Given the description of an element on the screen output the (x, y) to click on. 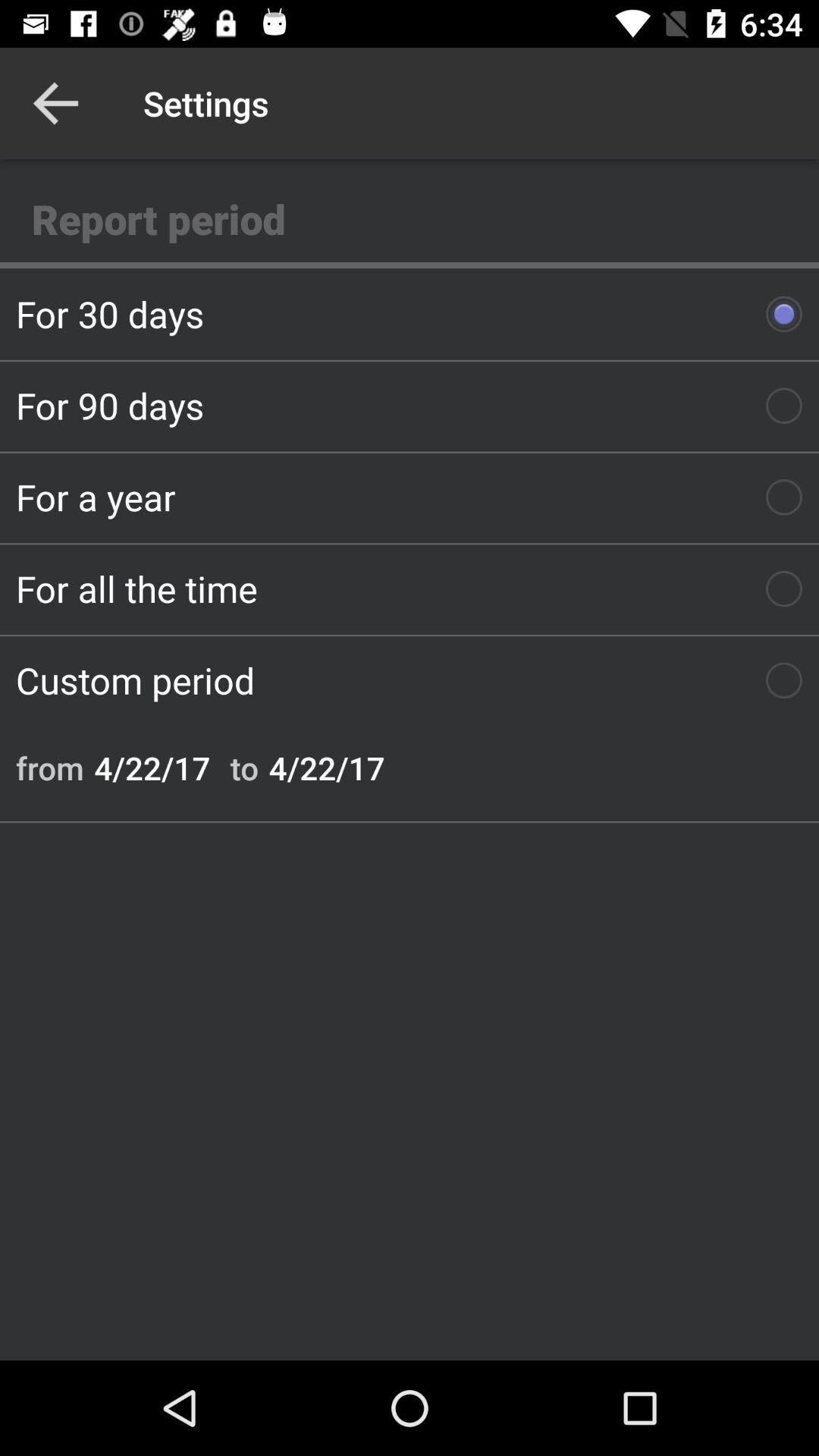
choose custom period (409, 680)
